Given the description of an element on the screen output the (x, y) to click on. 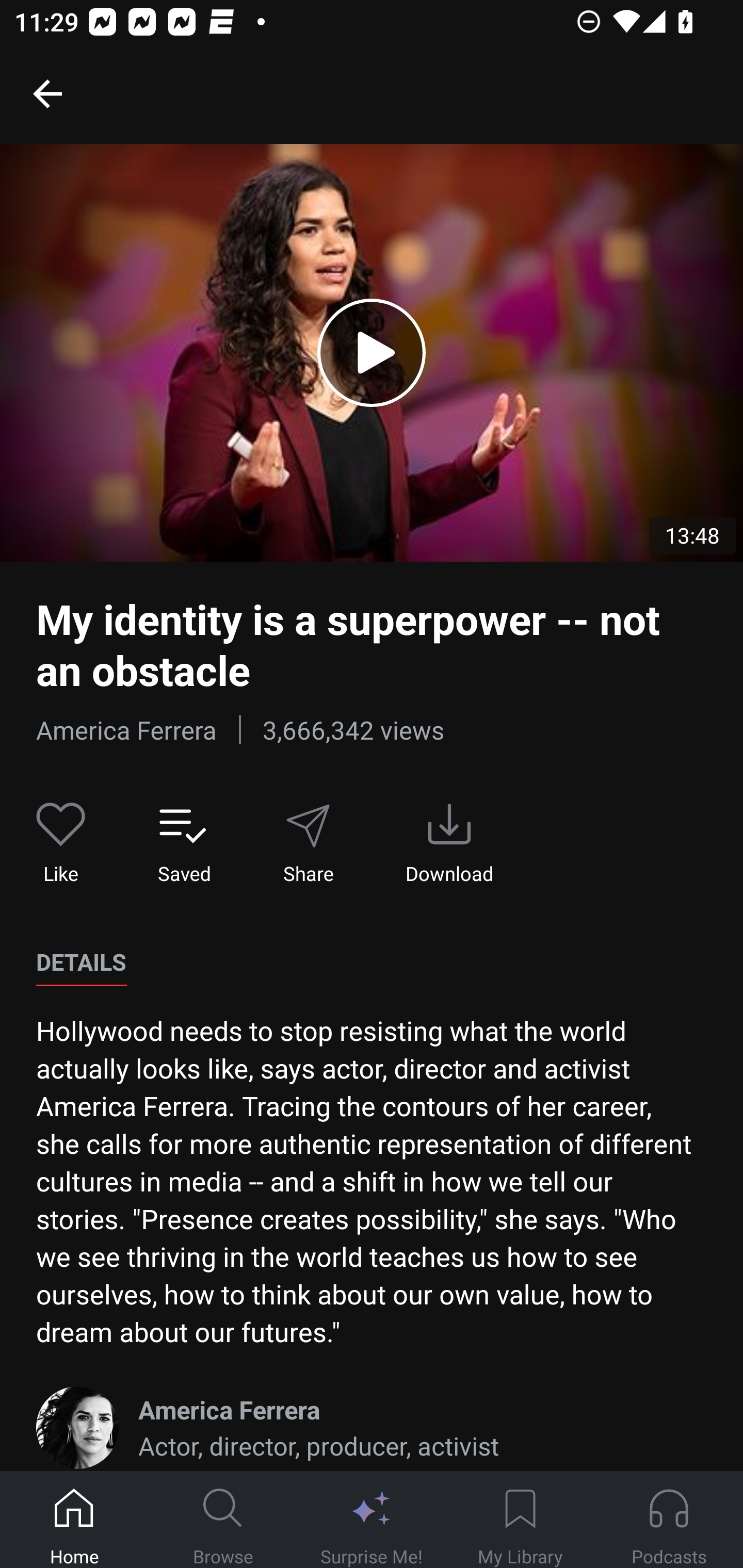
Home, back (47, 92)
Like (60, 843)
Saved (183, 843)
Share (308, 843)
Download (449, 843)
DETAILS (80, 962)
Home (74, 1520)
Browse (222, 1520)
Surprise Me! (371, 1520)
My Library (519, 1520)
Podcasts (668, 1520)
